Given the description of an element on the screen output the (x, y) to click on. 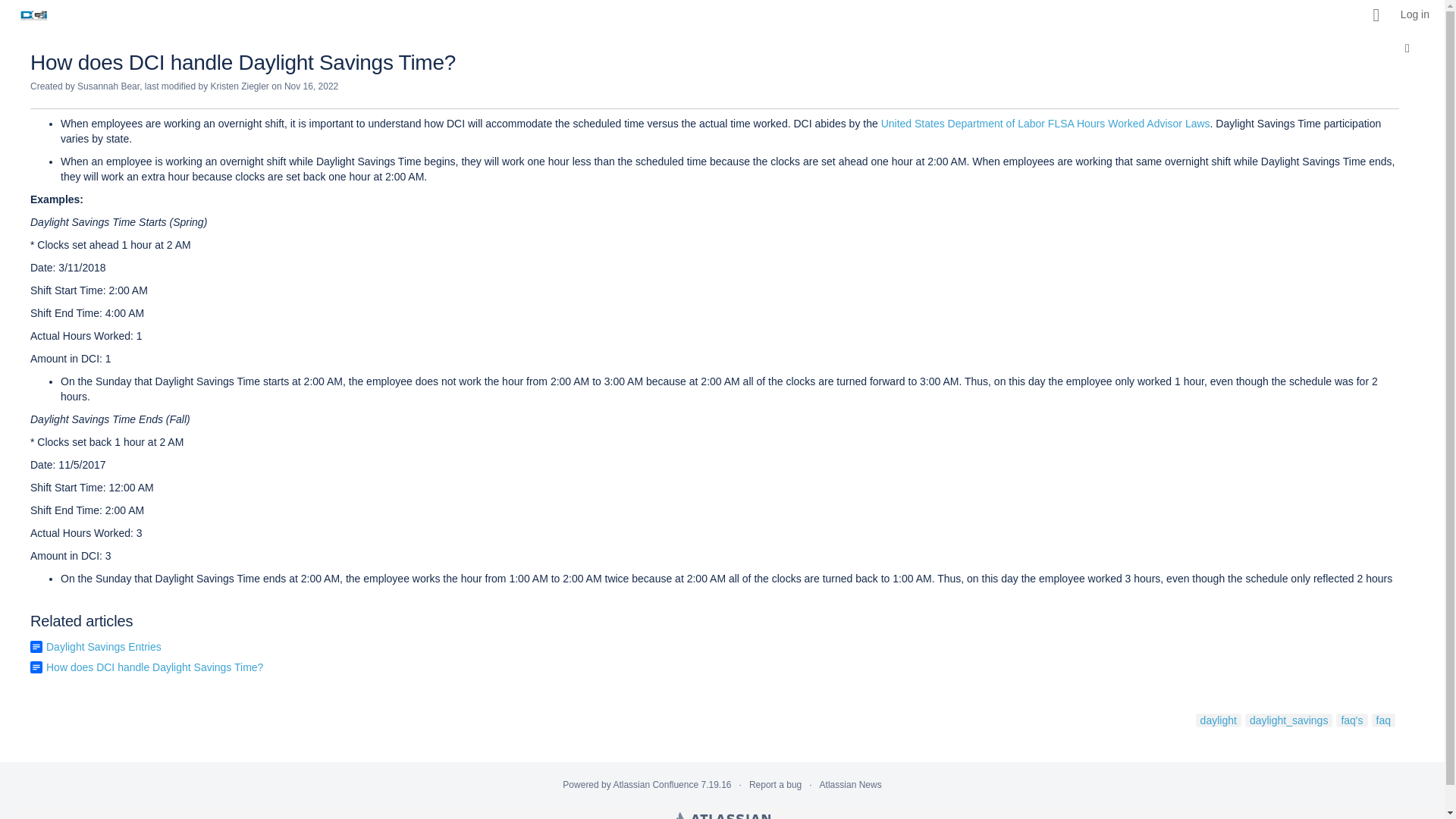
Nov 16, 2022 (310, 86)
Log in (1415, 15)
Kristen Ziegler (240, 86)
How does DCI handle Daylight Savings Time? (154, 666)
daylight (1217, 720)
Help (1376, 15)
faq's (1351, 720)
Susannah Bear (108, 86)
faq (1382, 720)
Daylight Savings Entries (103, 646)
